Given the description of an element on the screen output the (x, y) to click on. 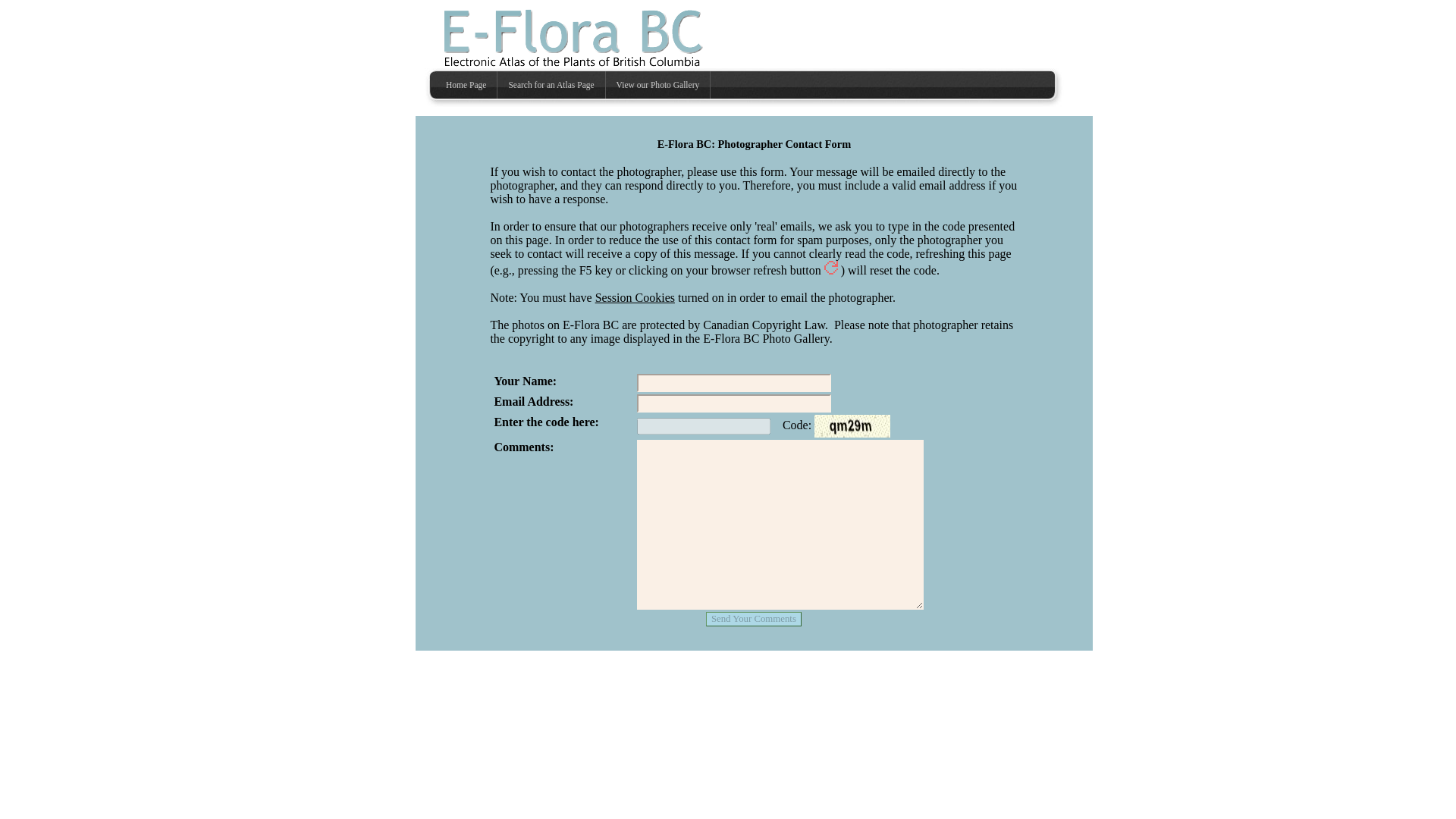
View our Photo Gallery (658, 84)
Session Cookies (635, 297)
Send Your Comments (754, 618)
Send Your Comments (754, 618)
Home Page (466, 84)
Search for an Atlas Page (551, 84)
